Given the description of an element on the screen output the (x, y) to click on. 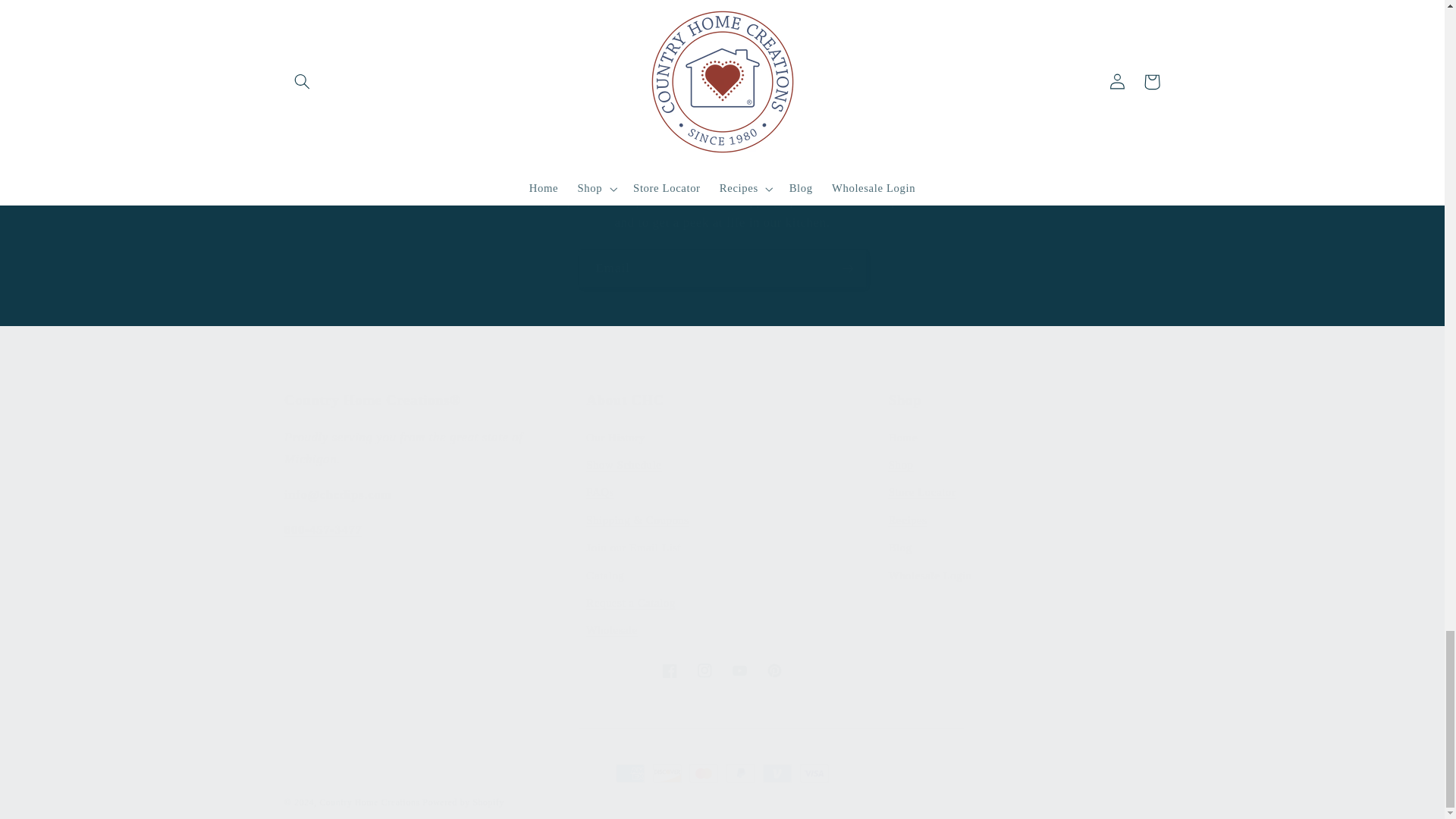
Email (1024, 517)
Get news from our kitchen (722, 268)
tel:8004573477 (721, 669)
